Given the description of an element on the screen output the (x, y) to click on. 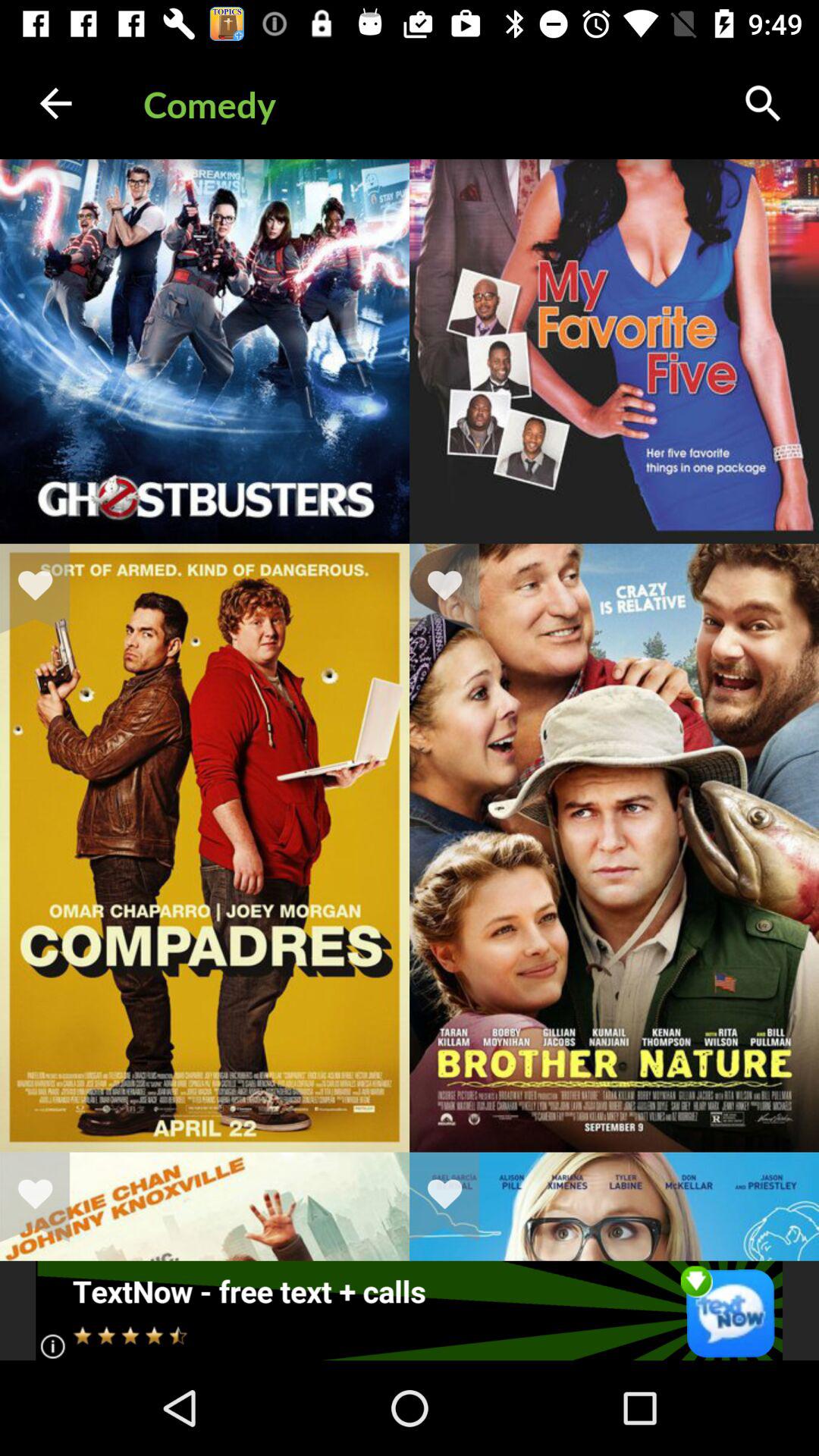
view advertisement (408, 1310)
